Given the description of an element on the screen output the (x, y) to click on. 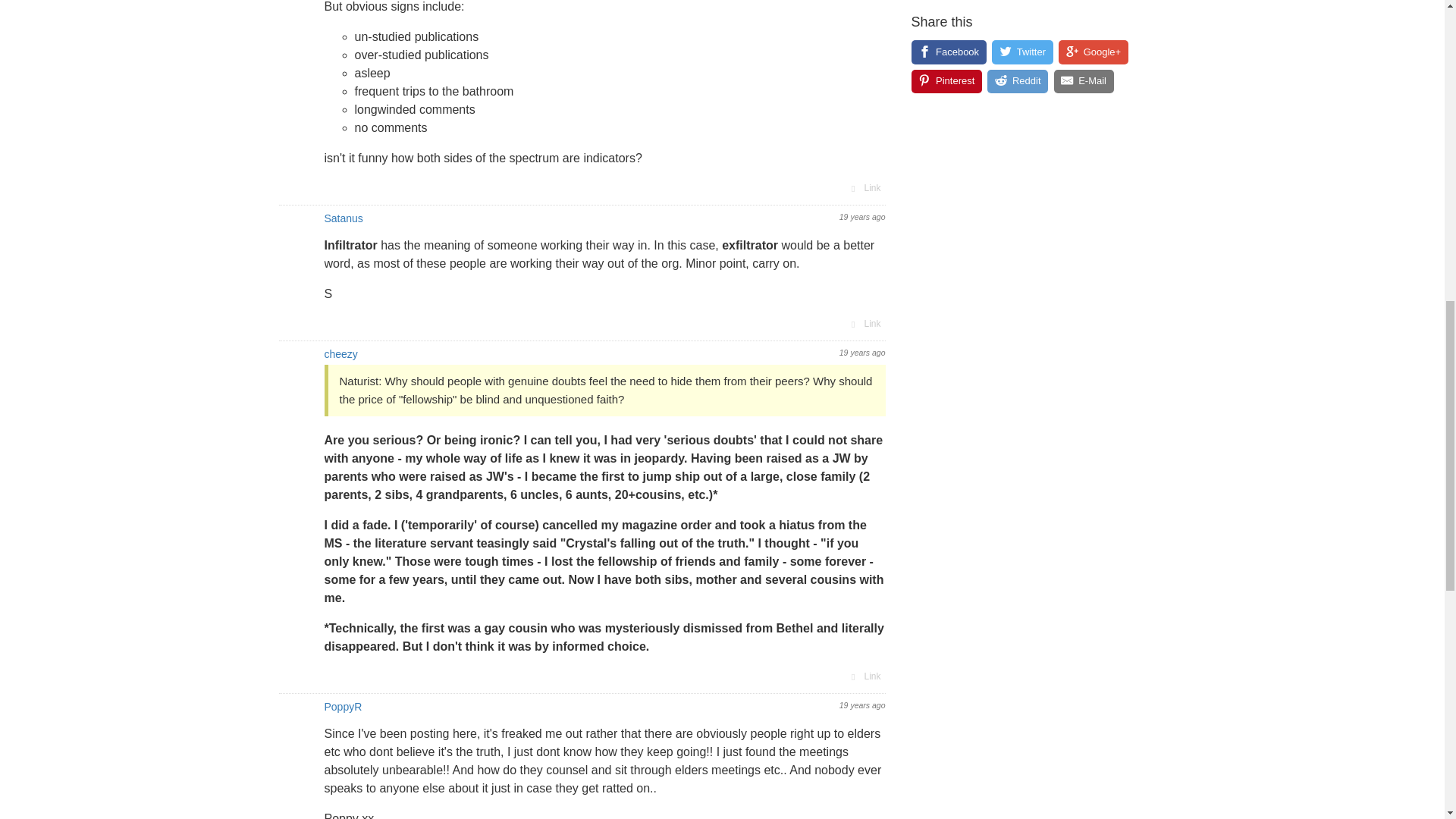
Link (864, 323)
cheezy (341, 354)
Link (864, 676)
Link (864, 187)
PoppyR (343, 706)
Satanus (343, 218)
Tue, Dec 20 2005, 06:30:00 (862, 216)
